Given the description of an element on the screen output the (x, y) to click on. 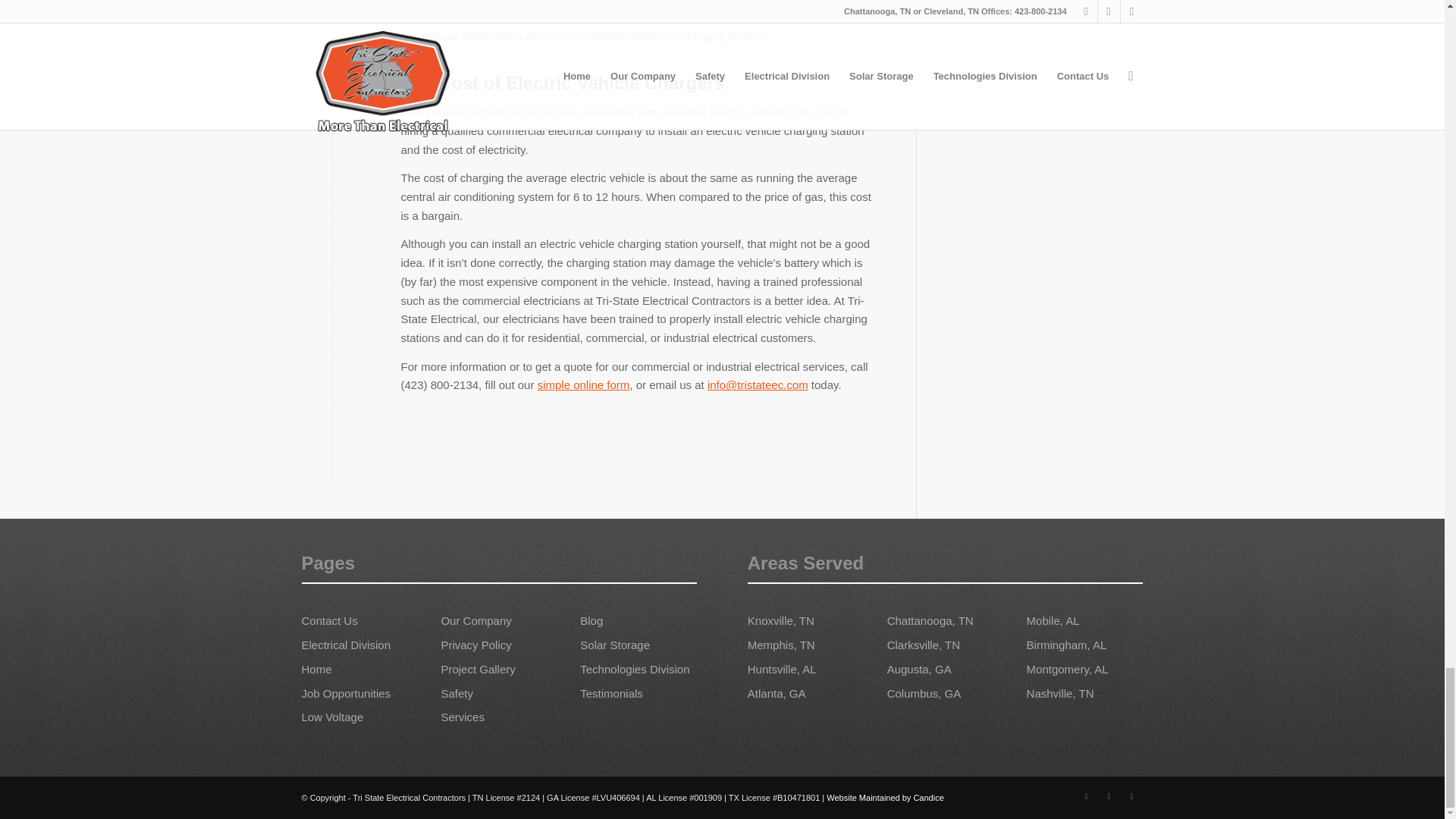
Facebook (1086, 795)
